Given the description of an element on the screen output the (x, y) to click on. 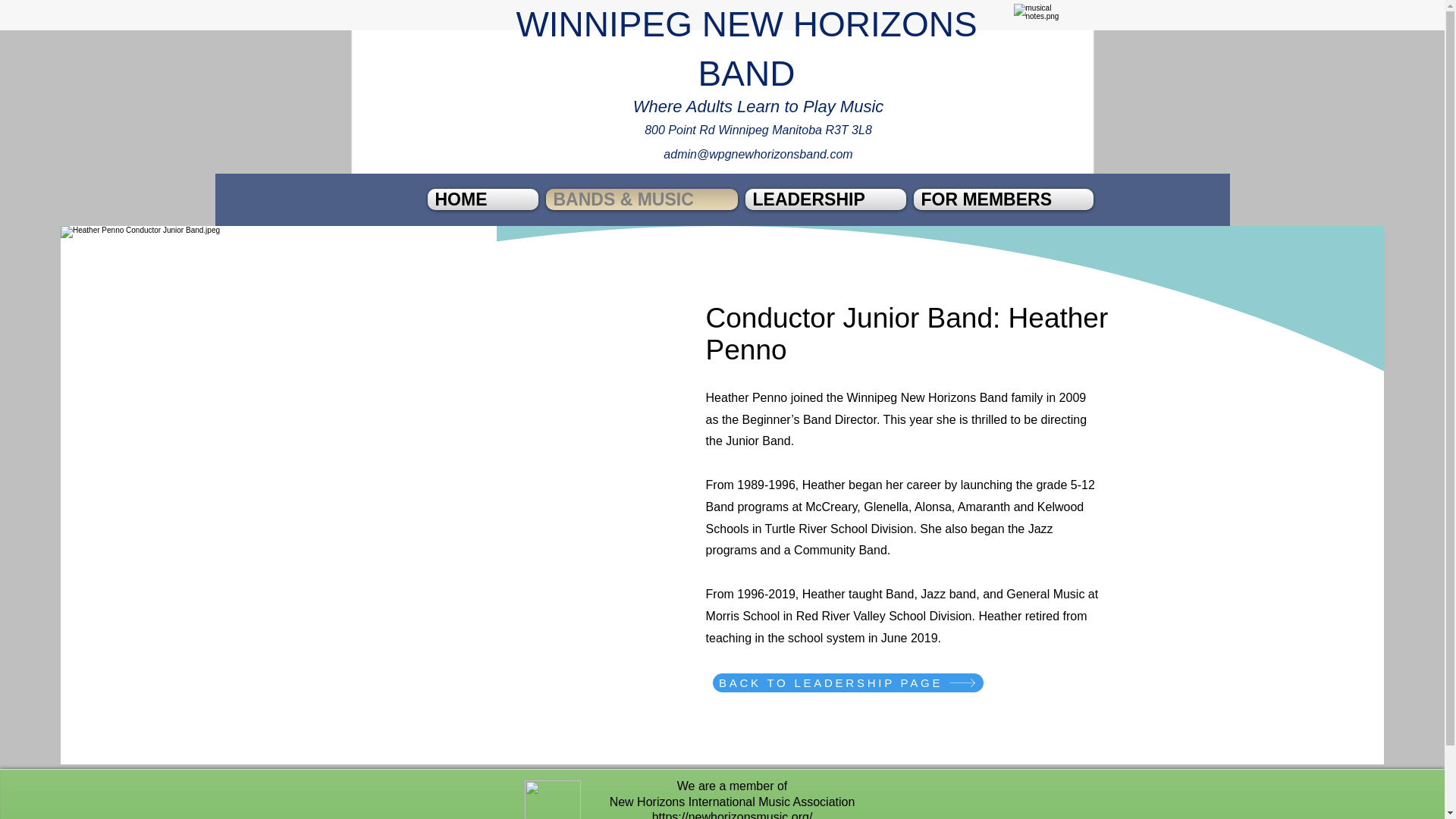
HOME (484, 199)
BACK TO LEADERSHIP PAGE (848, 682)
FOR MEMBERS (1001, 199)
LEADERSHIP (825, 199)
WINNIPEG NEW HORIZONS BAND (745, 48)
